Given the description of an element on the screen output the (x, y) to click on. 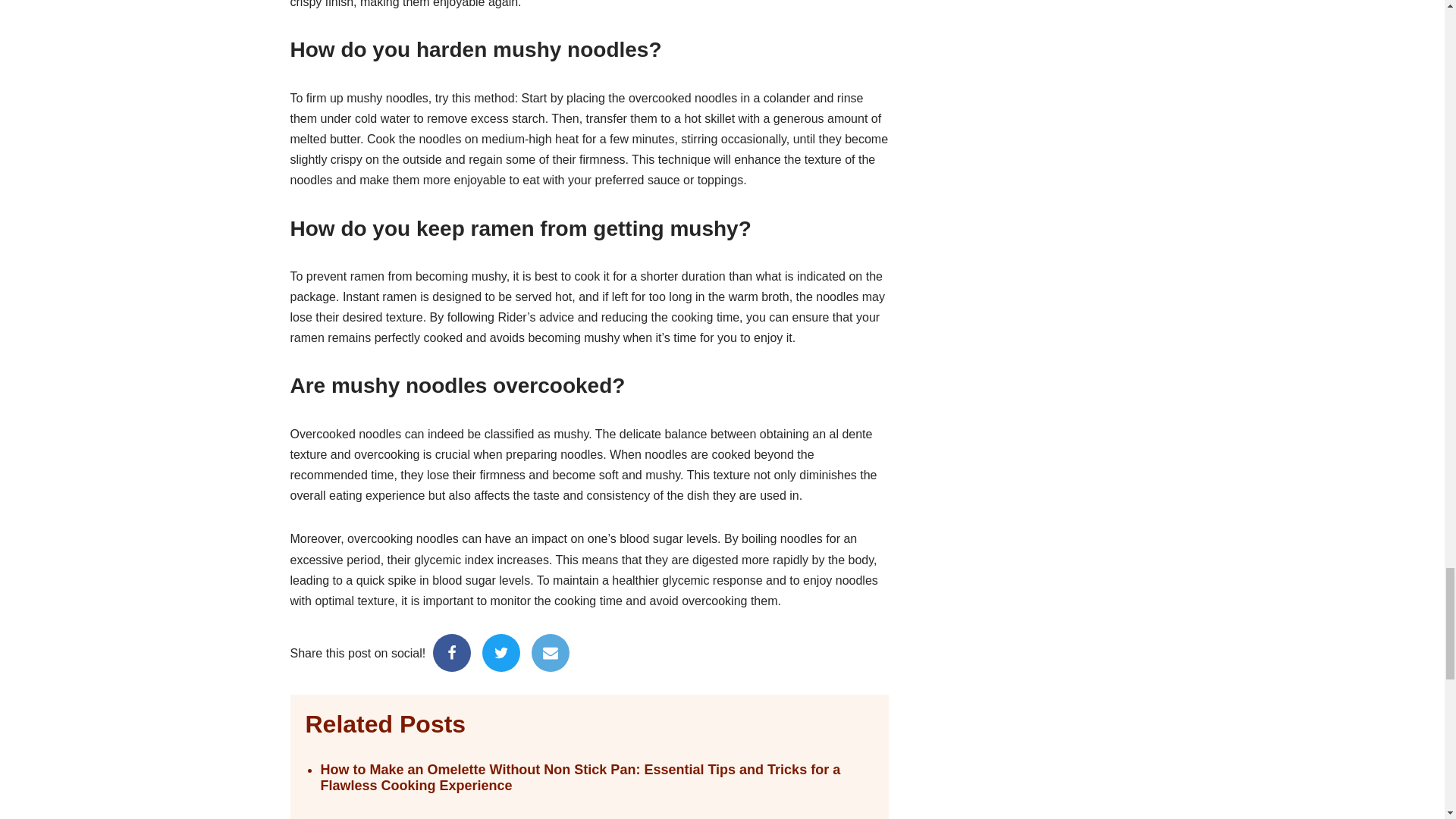
Email (550, 652)
Facebook (451, 652)
Twitter (500, 652)
